Given the description of an element on the screen output the (x, y) to click on. 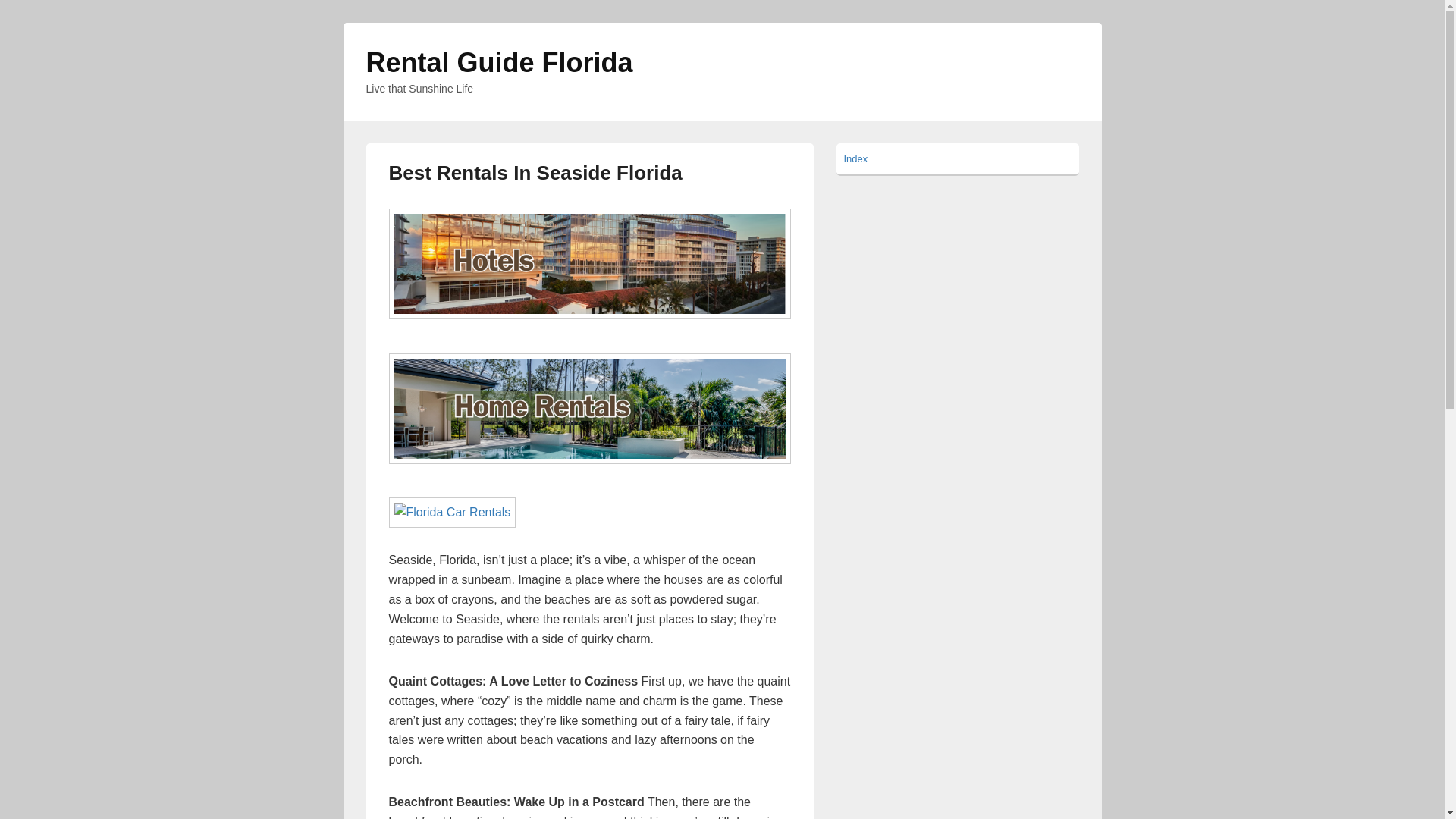
Florida Home Rentals (589, 408)
Index (855, 158)
Affordable Car Rentals Florida (451, 512)
Florida Hotels (589, 263)
Rental Guide Florida (498, 61)
